Given the description of an element on the screen output the (x, y) to click on. 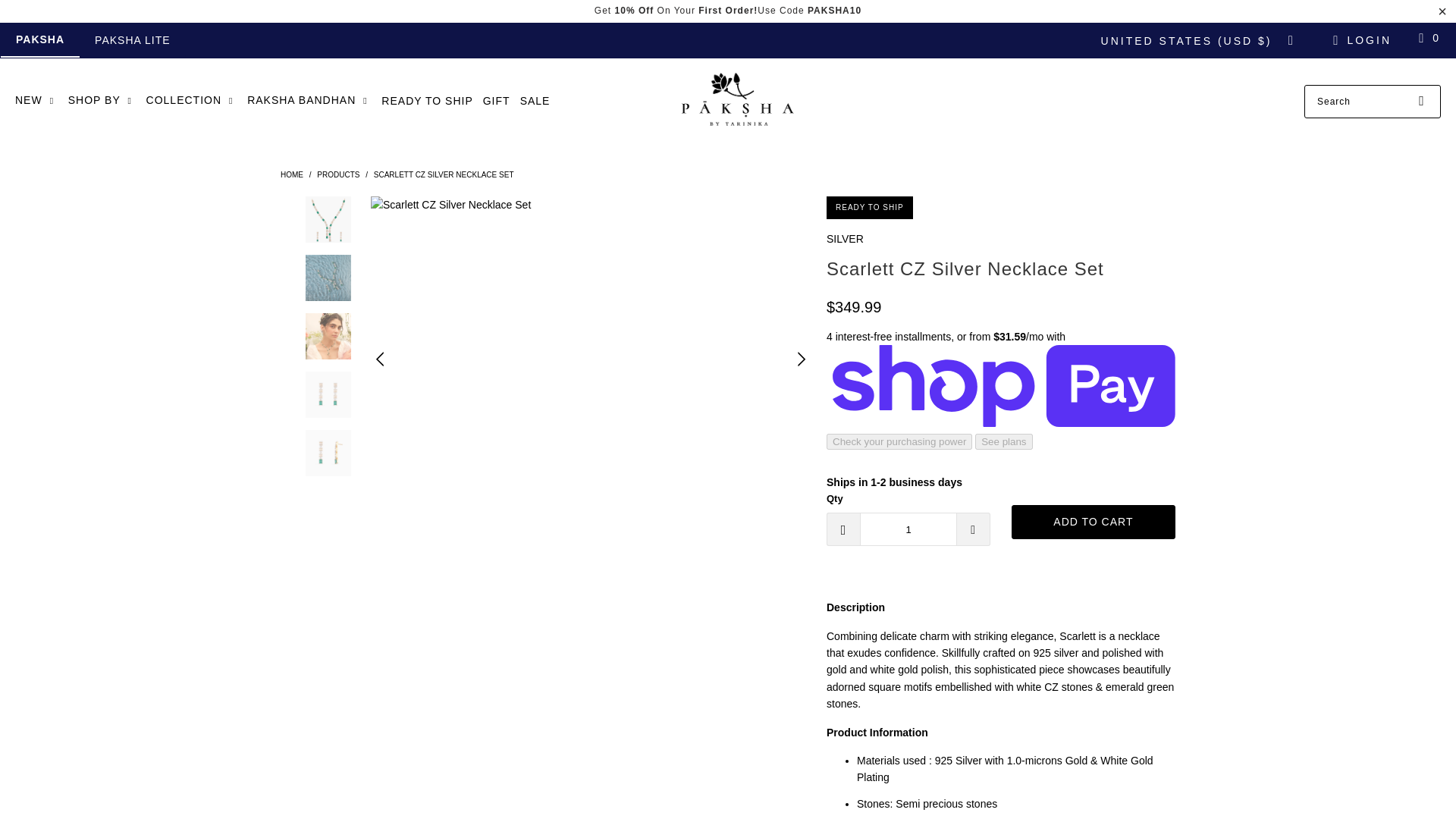
My Account  (1359, 39)
Paksha (291, 174)
1 (908, 529)
Paksha (734, 101)
Products (338, 174)
